Given the description of an element on the screen output the (x, y) to click on. 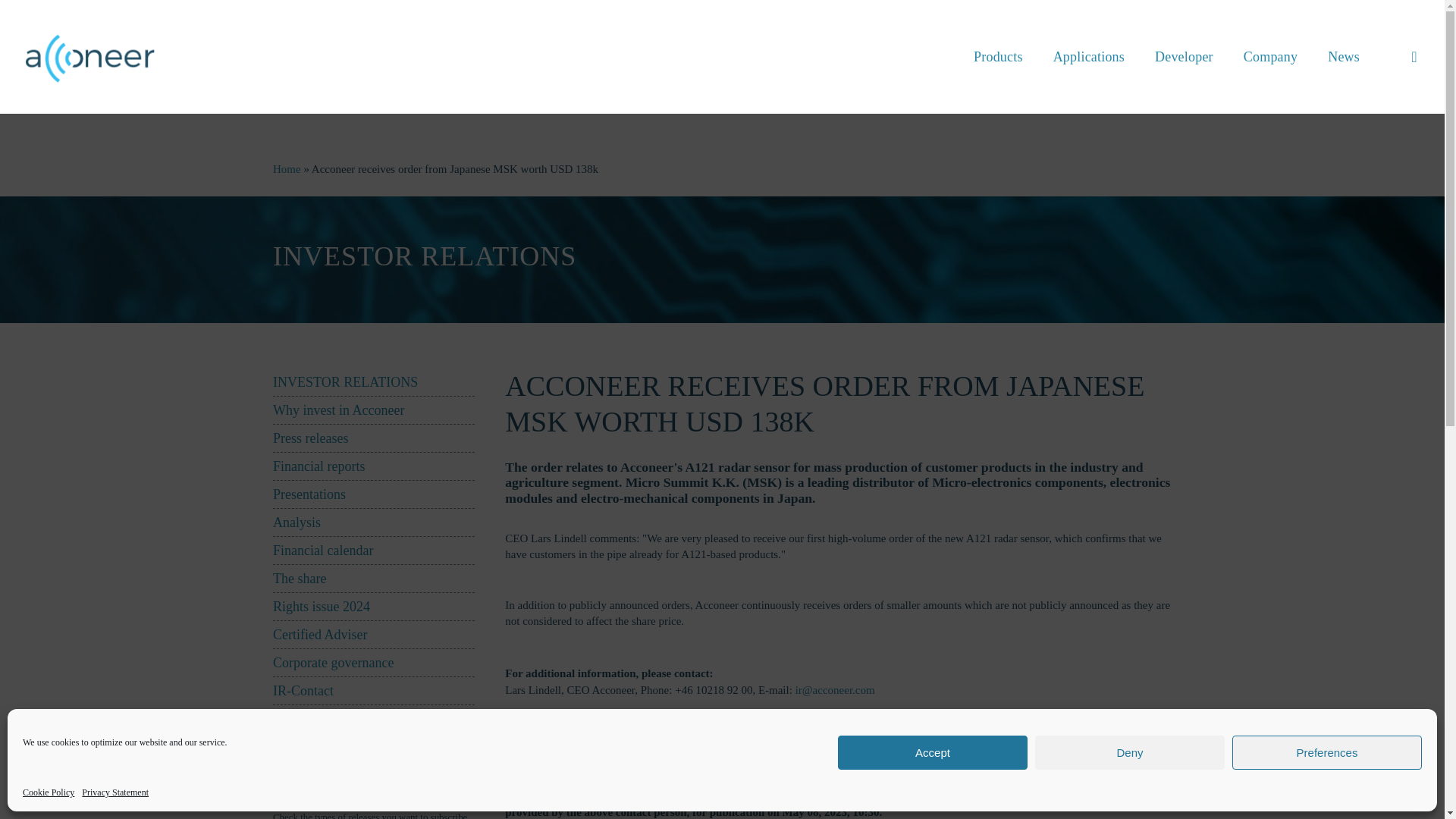
News (1343, 56)
Cookie Policy (48, 792)
Products (998, 56)
Privacy Statement (114, 792)
search (1414, 56)
Applications (1089, 56)
Deny (1129, 752)
Preferences (1326, 752)
Accept (932, 752)
Company (1270, 56)
